Given the description of an element on the screen output the (x, y) to click on. 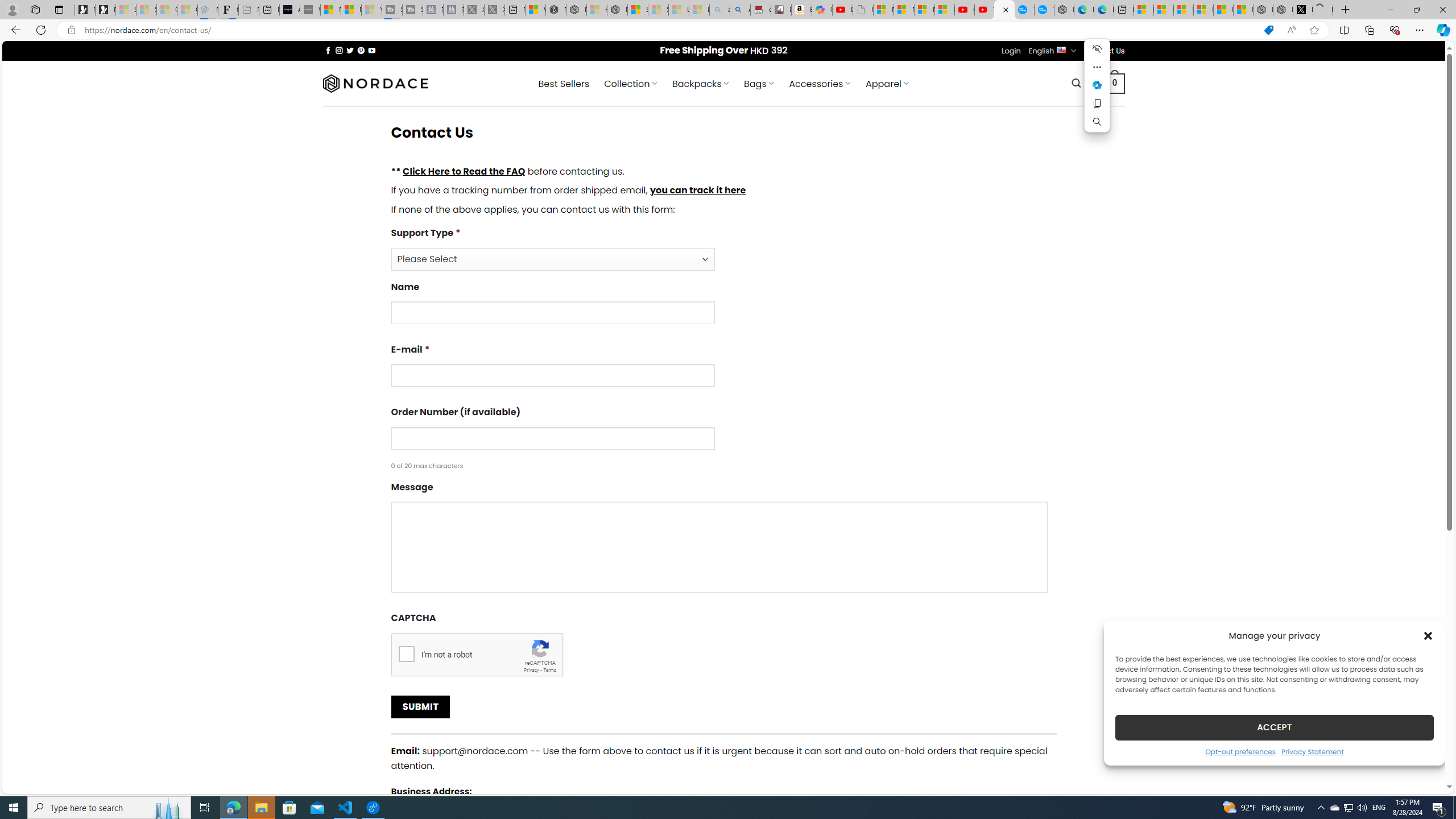
Support Type* (723, 248)
Terms (549, 669)
Opt-out preferences (1240, 750)
Hide menu (1096, 49)
I'm not a robot (405, 653)
